Given the description of an element on the screen output the (x, y) to click on. 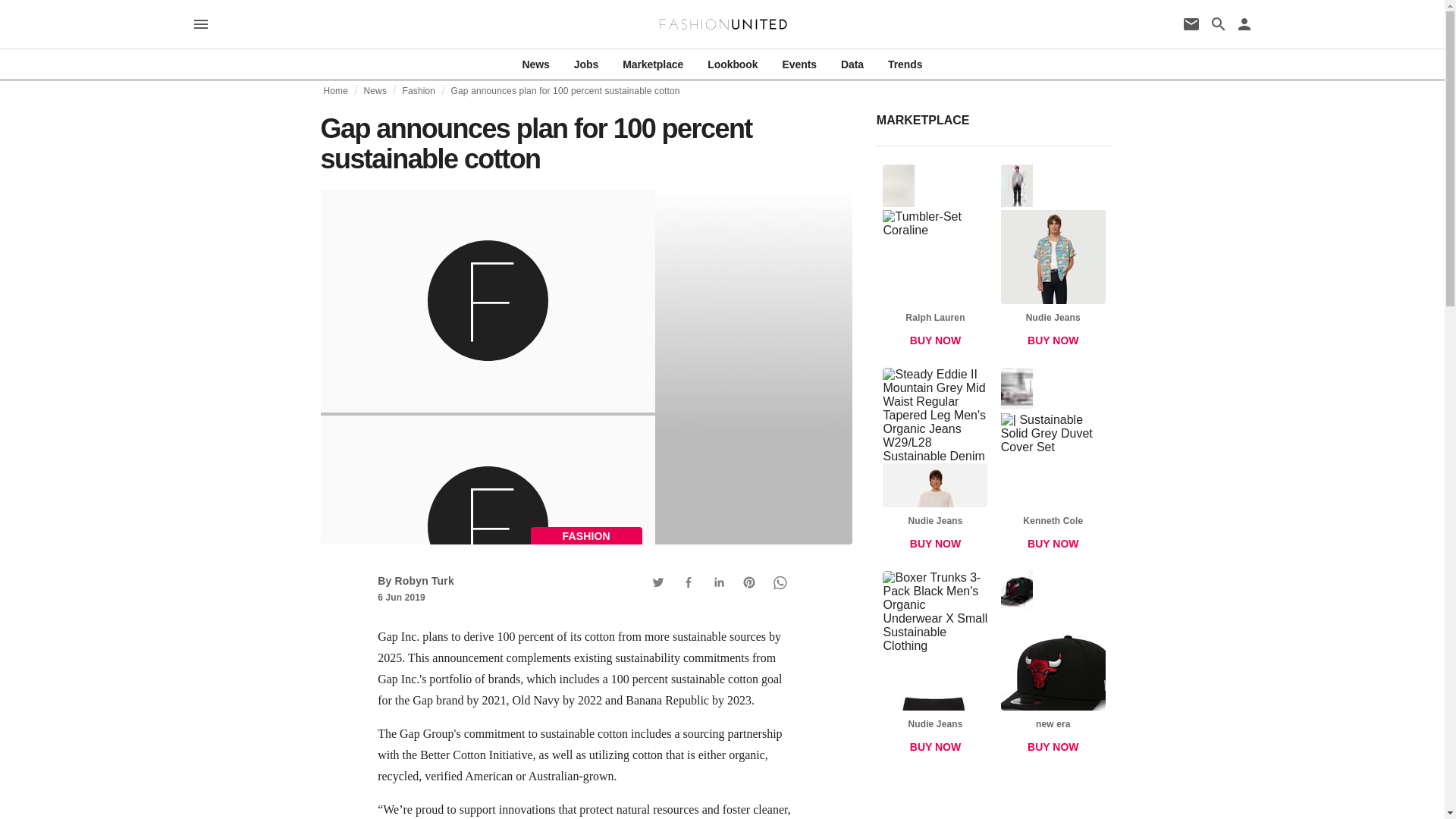
Tumbler-Set Coraline (934, 200)
BUY NOW (1053, 747)
Data (852, 64)
Fashion (418, 90)
BUY NOW (1053, 543)
BUY NOW (935, 747)
BUY NOW (1053, 340)
BUY NOW (935, 543)
Trends (905, 64)
Gap announces plan for 100 percent sustainable cotton (565, 90)
